Given the description of an element on the screen output the (x, y) to click on. 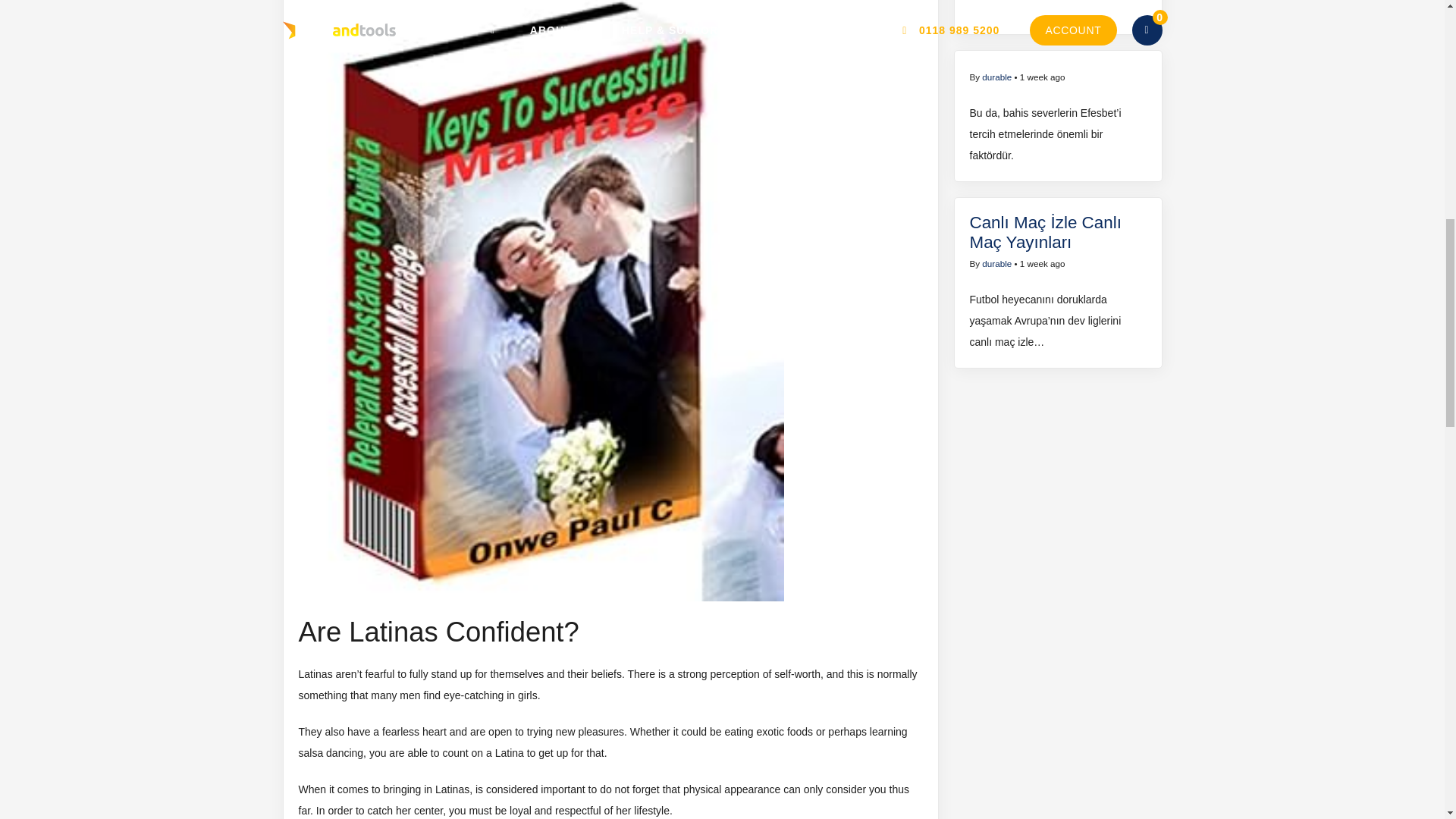
durable (996, 263)
durable (996, 76)
